Given the description of an element on the screen output the (x, y) to click on. 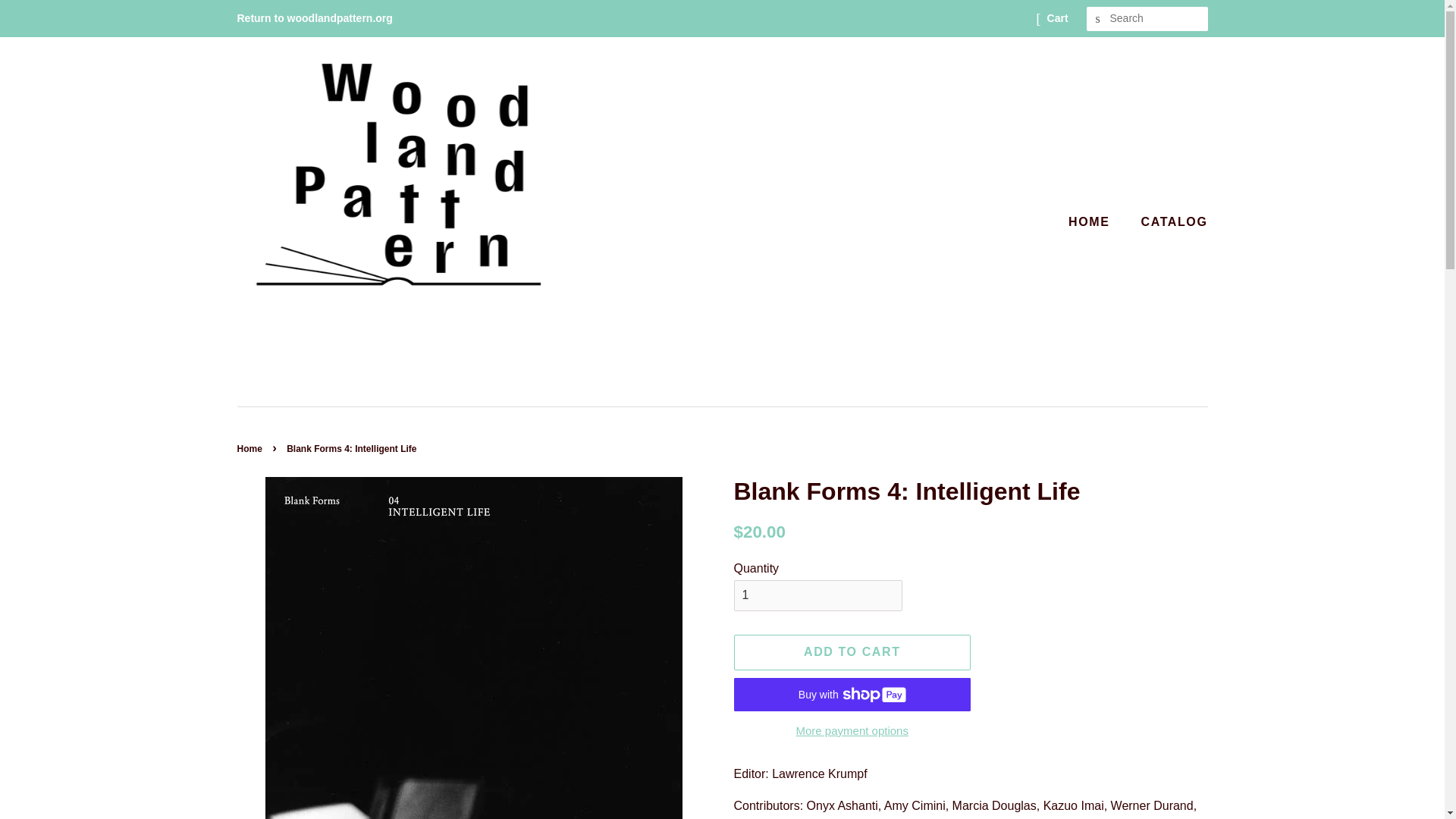
Cart (1057, 18)
Back to the frontpage (249, 448)
SEARCH (1097, 18)
More payment options (852, 730)
ADD TO CART (852, 652)
CATALOG (1168, 221)
Home (249, 448)
Return to woodlandpattern.org (313, 18)
1 (817, 594)
HOME (1096, 221)
